Given the description of an element on the screen output the (x, y) to click on. 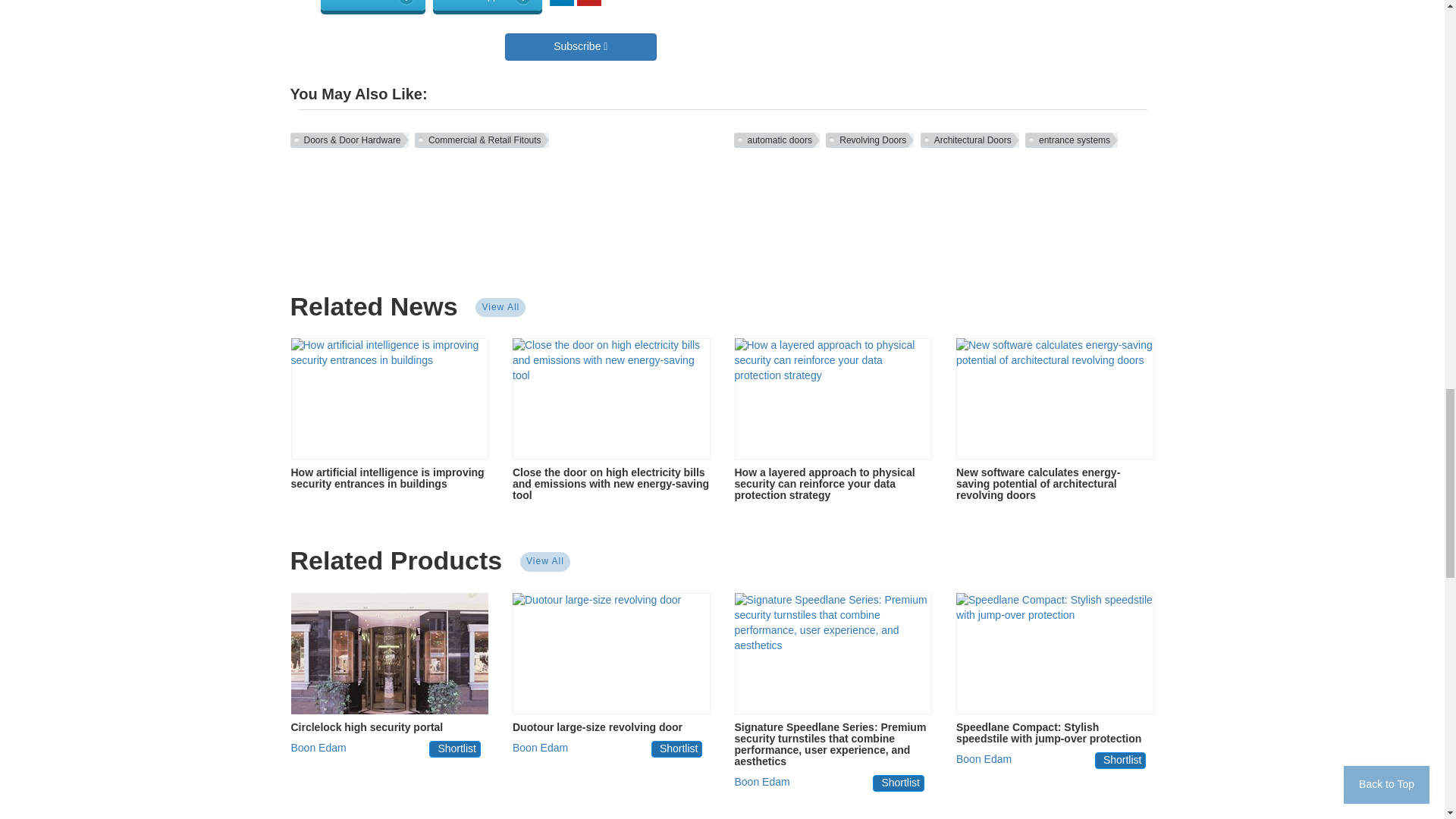
3rd party ad content (721, 210)
